Given the description of an element on the screen output the (x, y) to click on. 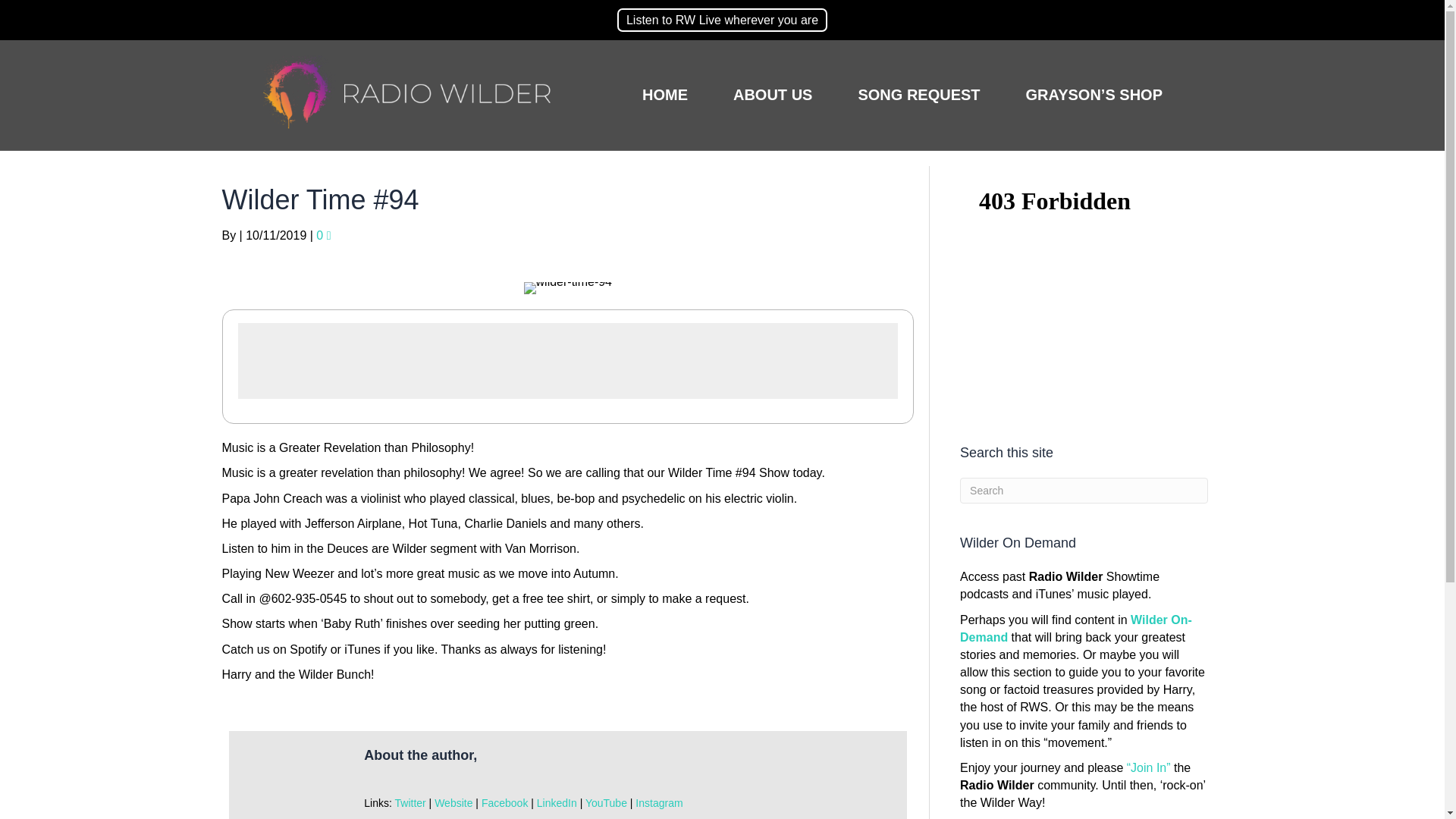
Website (452, 802)
wilder-time-94 (567, 287)
Twitter (409, 802)
ABOUT US (772, 94)
SONG REQUEST (918, 94)
YouTube (606, 802)
Type and press Enter to search. (1083, 490)
HOME (665, 94)
Wilder On-Demand (1075, 627)
Instagram (658, 802)
